Given the description of an element on the screen output the (x, y) to click on. 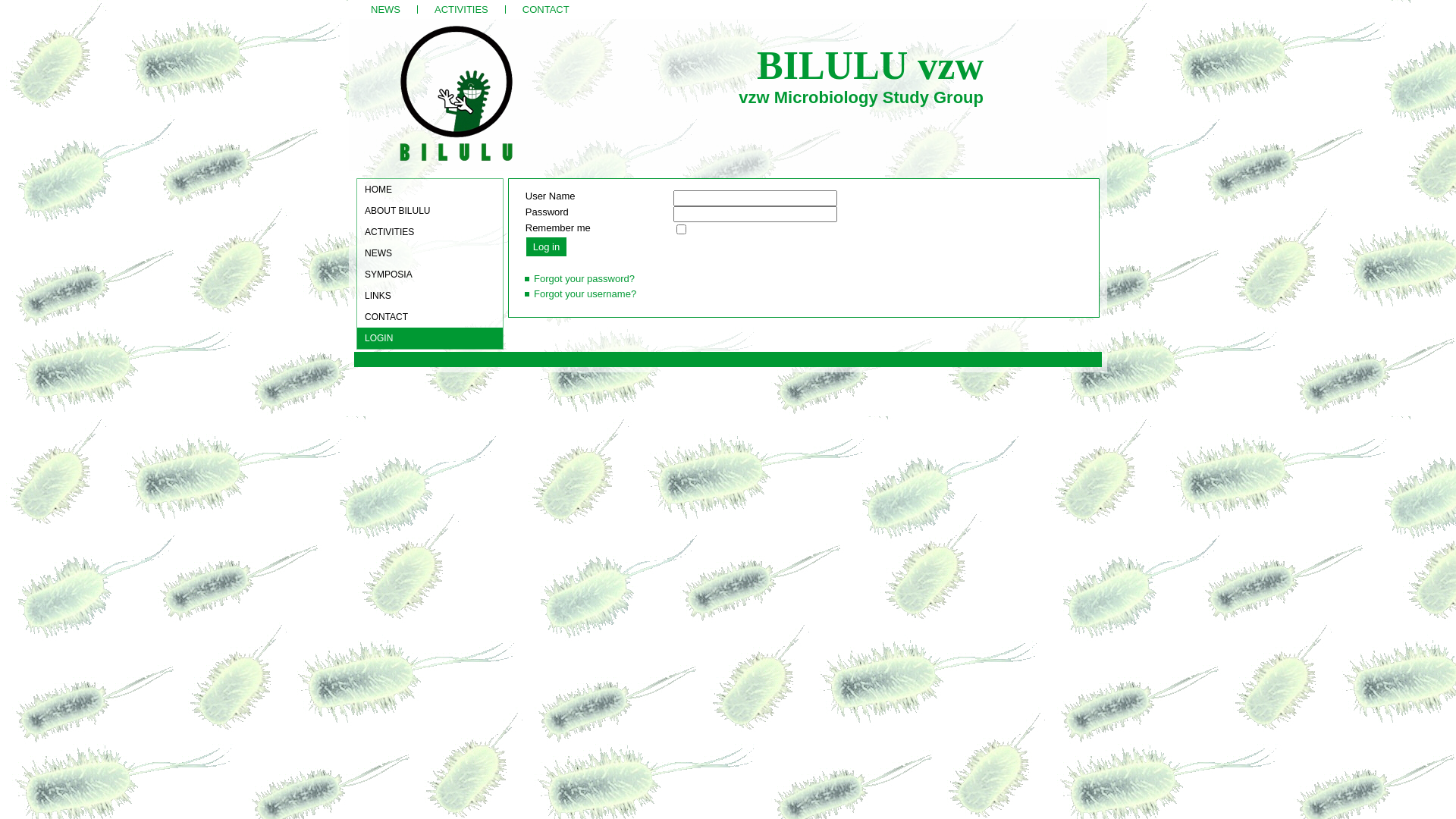
HOME Element type: text (429, 189)
ACTIVITIES Element type: text (429, 231)
CONTACT Element type: text (429, 316)
CONTACT Element type: text (545, 9)
Forgot your password? Element type: text (583, 278)
Log in Element type: text (546, 246)
ACTIVITIES Element type: text (461, 9)
LOGIN Element type: text (429, 337)
BILULU vzw Element type: text (869, 65)
NEWS Element type: text (429, 252)
NEWS Element type: text (385, 9)
Forgot your username? Element type: text (584, 293)
ABOUT BILULU Element type: text (429, 210)
LINKS Element type: text (429, 295)
SYMPOSIA Element type: text (429, 274)
